Given the description of an element on the screen output the (x, y) to click on. 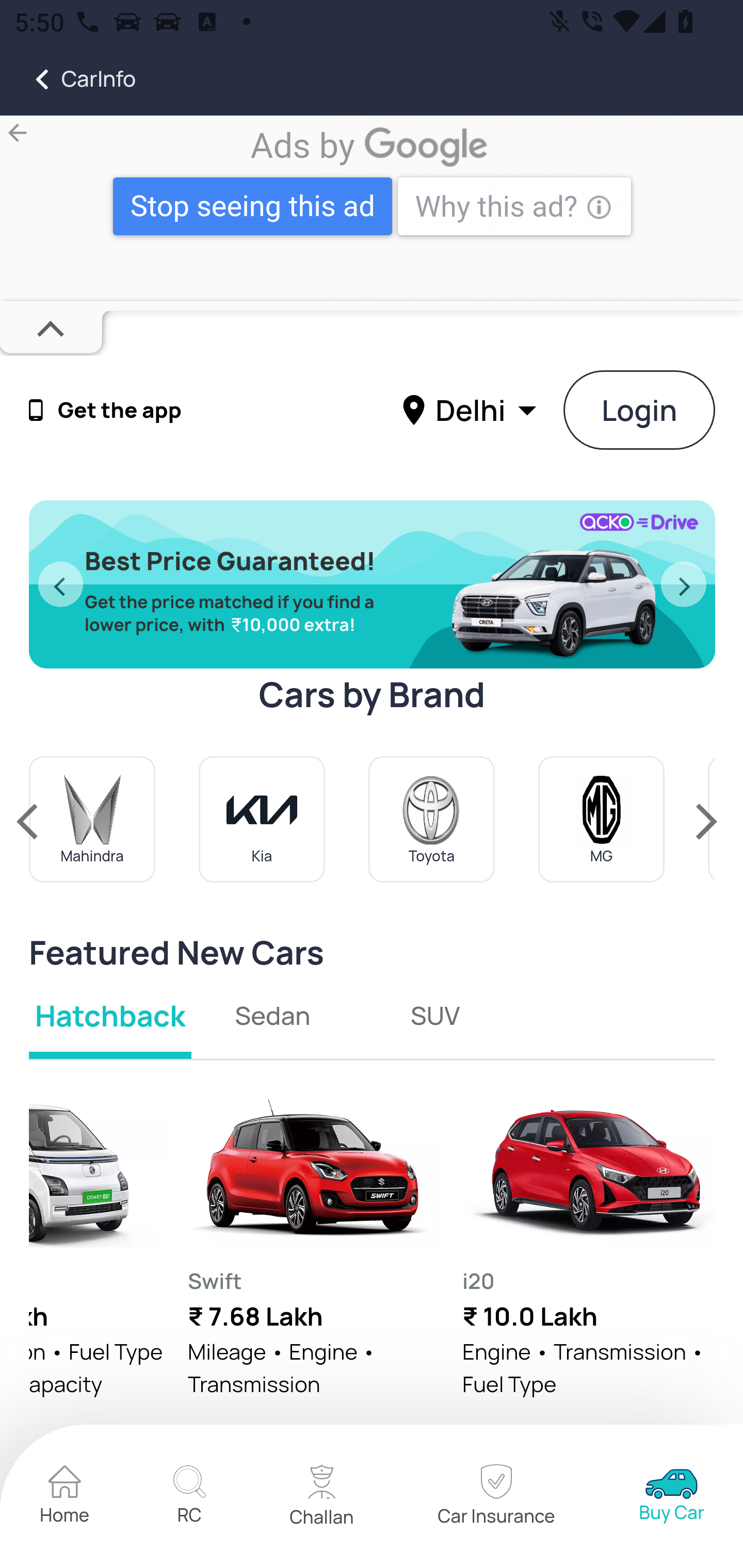
CarInfo (67, 79)
Login (639, 409)
Delhi (471, 408)
Get the app (119, 410)
Previous (60, 584)
Next (684, 584)
Mahindra Mahindra Mahindra Mahindra (92, 819)
Kia Kia Kia Kia (262, 819)
Toyota Toyota Toyota Toyota (431, 819)
MG MG MG MG (601, 819)
Hatchback (110, 1014)
Sedan (273, 1014)
SUV (434, 1014)
home Challan home Challan (322, 1496)
home Home home Home (64, 1496)
home RC home RC (189, 1496)
home Car Insurance home Car Insurance (496, 1497)
home Buy Car home Buy Car (671, 1497)
